Given the description of an element on the screen output the (x, y) to click on. 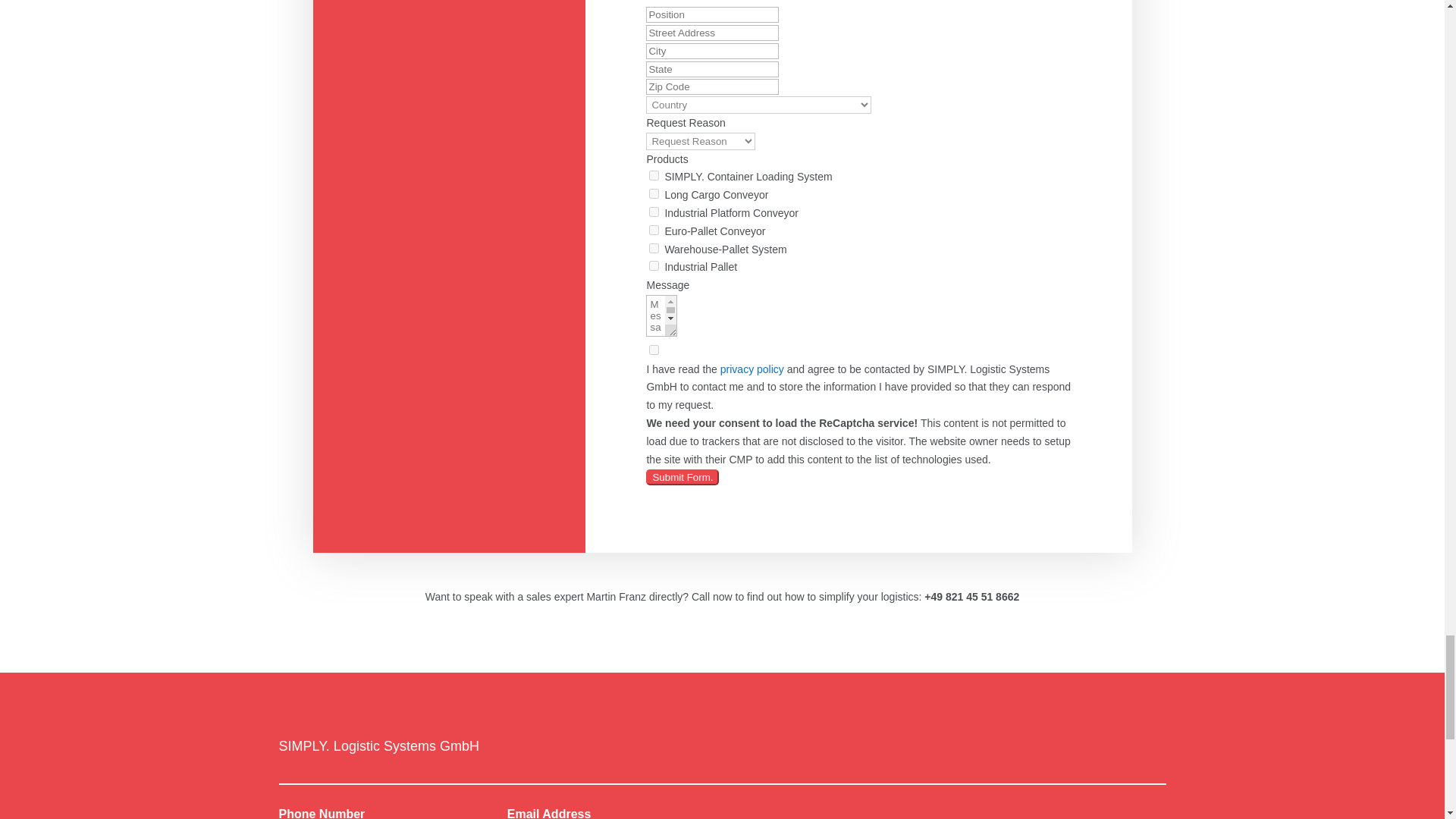
Long Cargo Conveyor (654, 194)
SIMPLY. Container Loading System (654, 175)
Warehouse-Pallet System (654, 248)
Industrial Platform Conveyor (654, 212)
Industrial Pallet (654, 266)
Euro-Pallet Conveyor (654, 230)
on (654, 349)
